Given the description of an element on the screen output the (x, y) to click on. 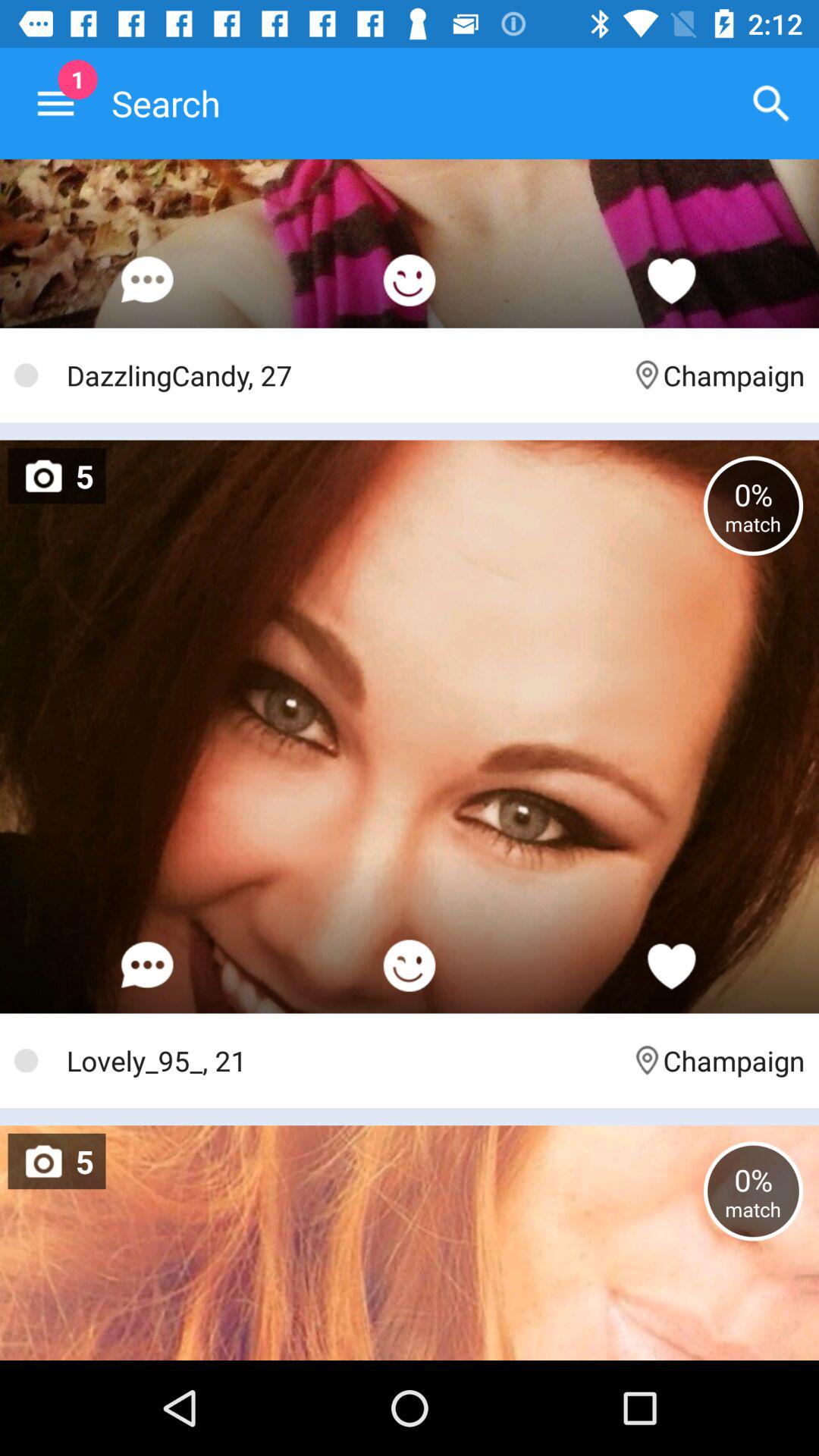
launch the icon next to the search item (771, 103)
